Given the description of an element on the screen output the (x, y) to click on. 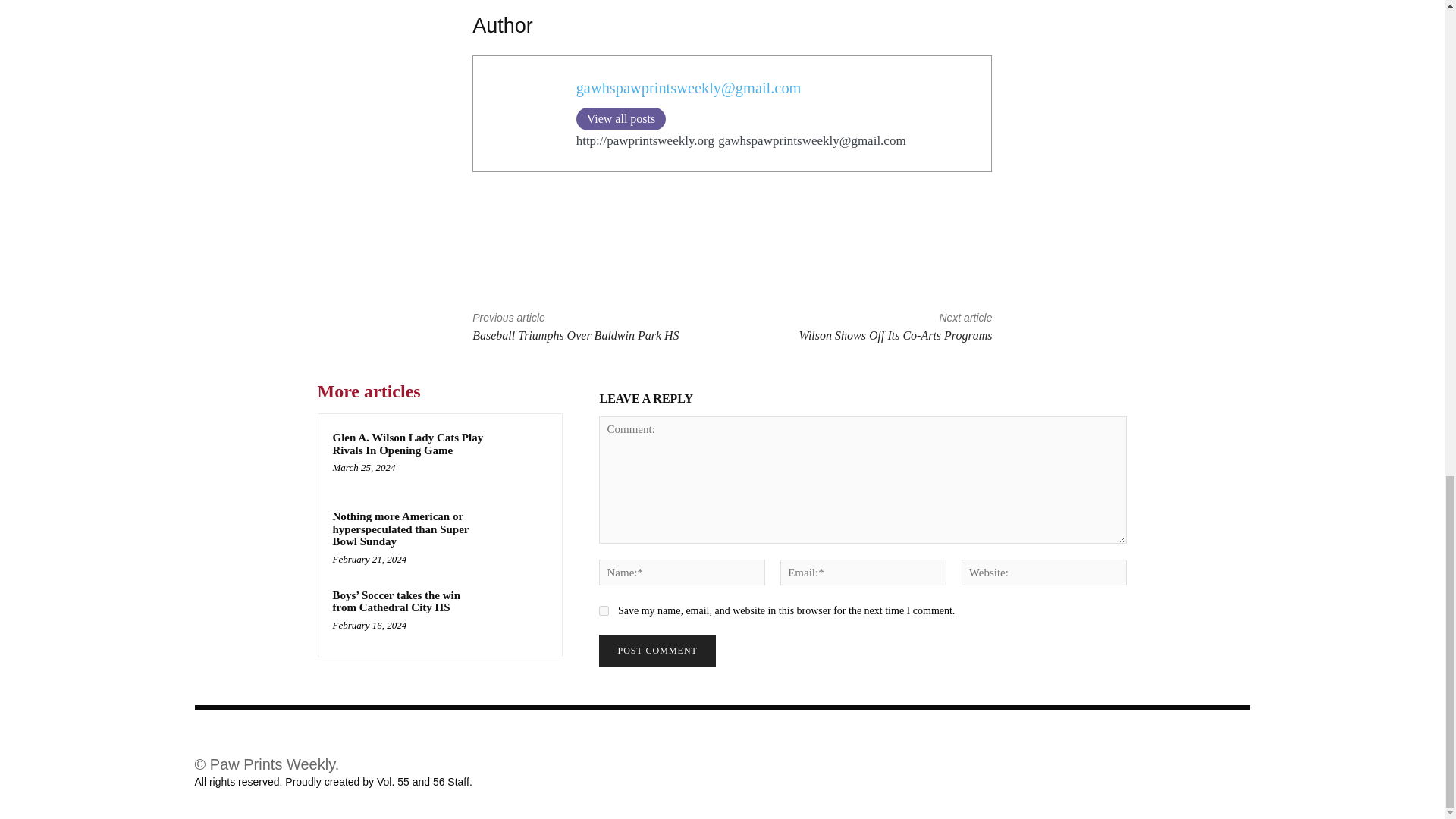
Post Comment (656, 650)
yes (603, 610)
